Given the description of an element on the screen output the (x, y) to click on. 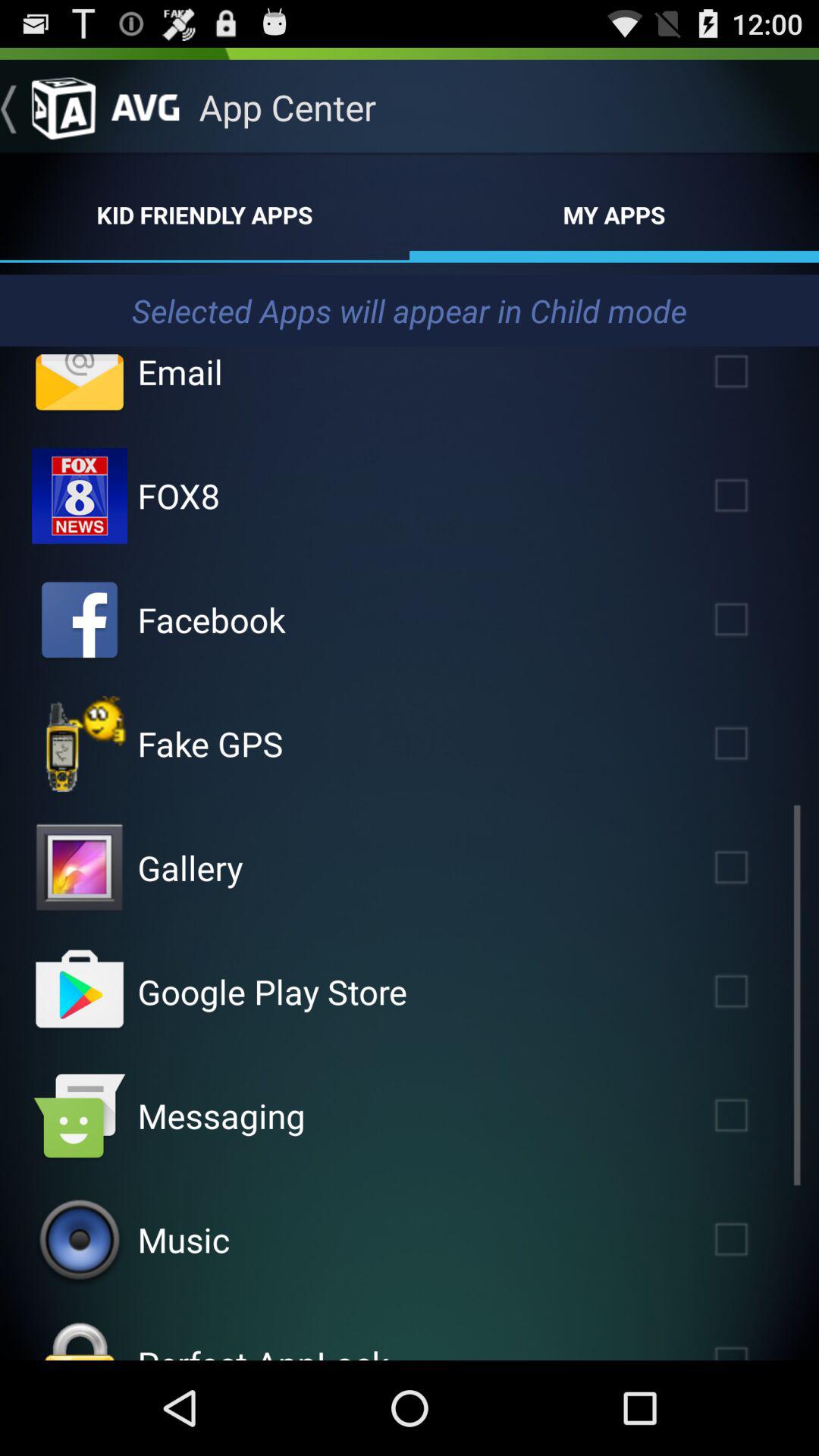
select email (79, 382)
